Given the description of an element on the screen output the (x, y) to click on. 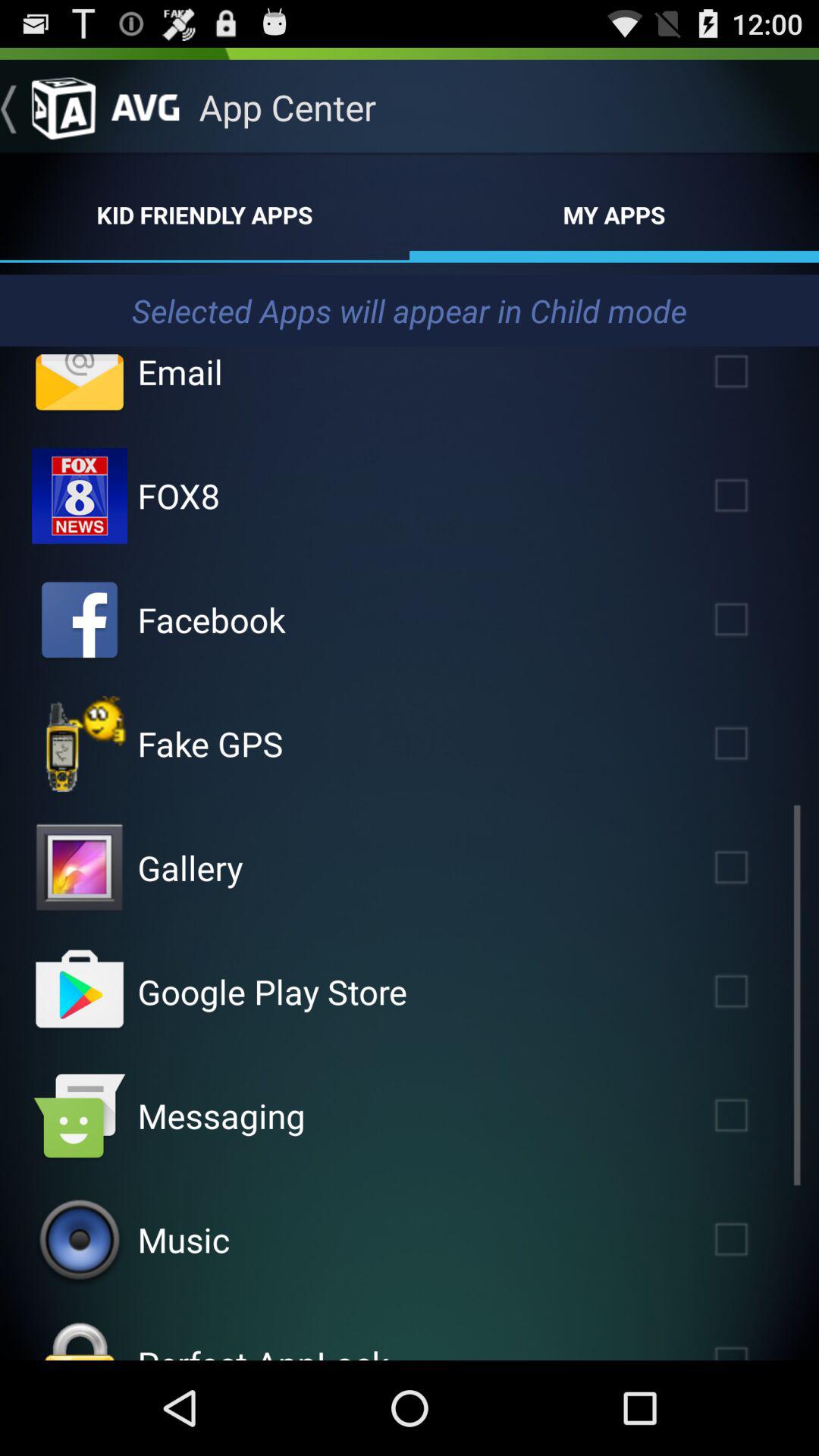
select email (79, 382)
